Given the description of an element on the screen output the (x, y) to click on. 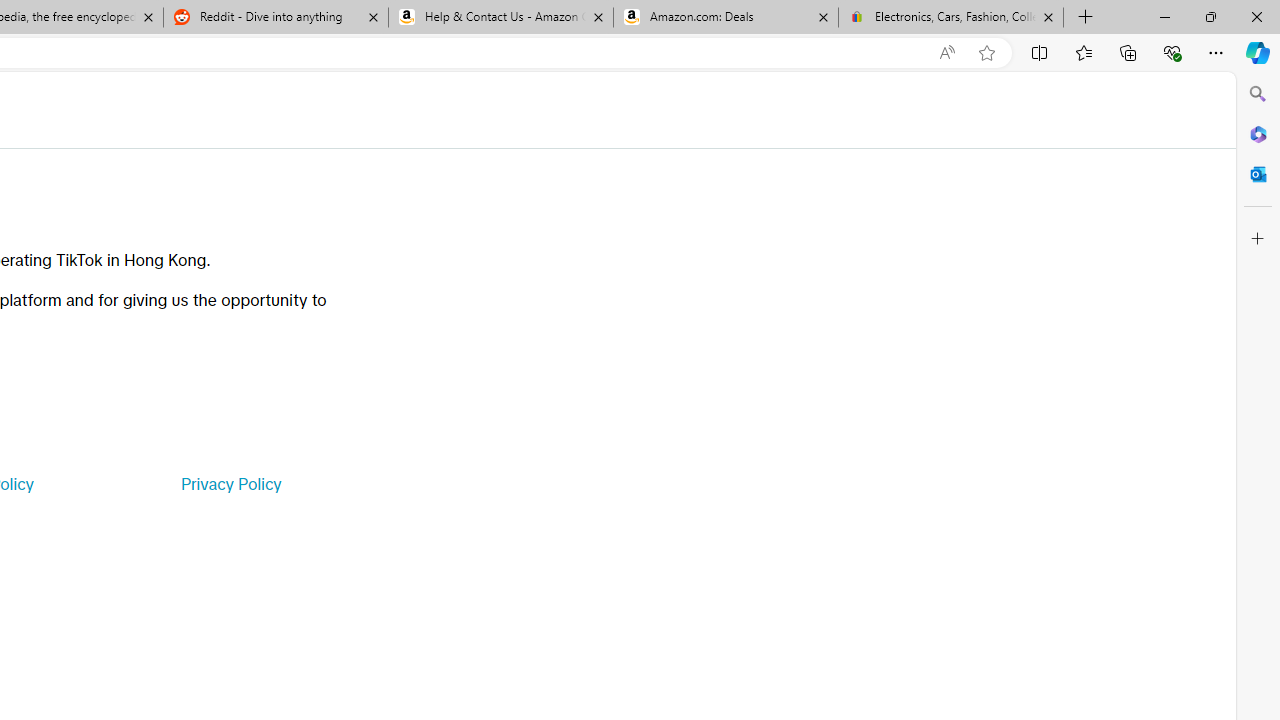
Privacy Policy (230, 484)
